Given the description of an element on the screen output the (x, y) to click on. 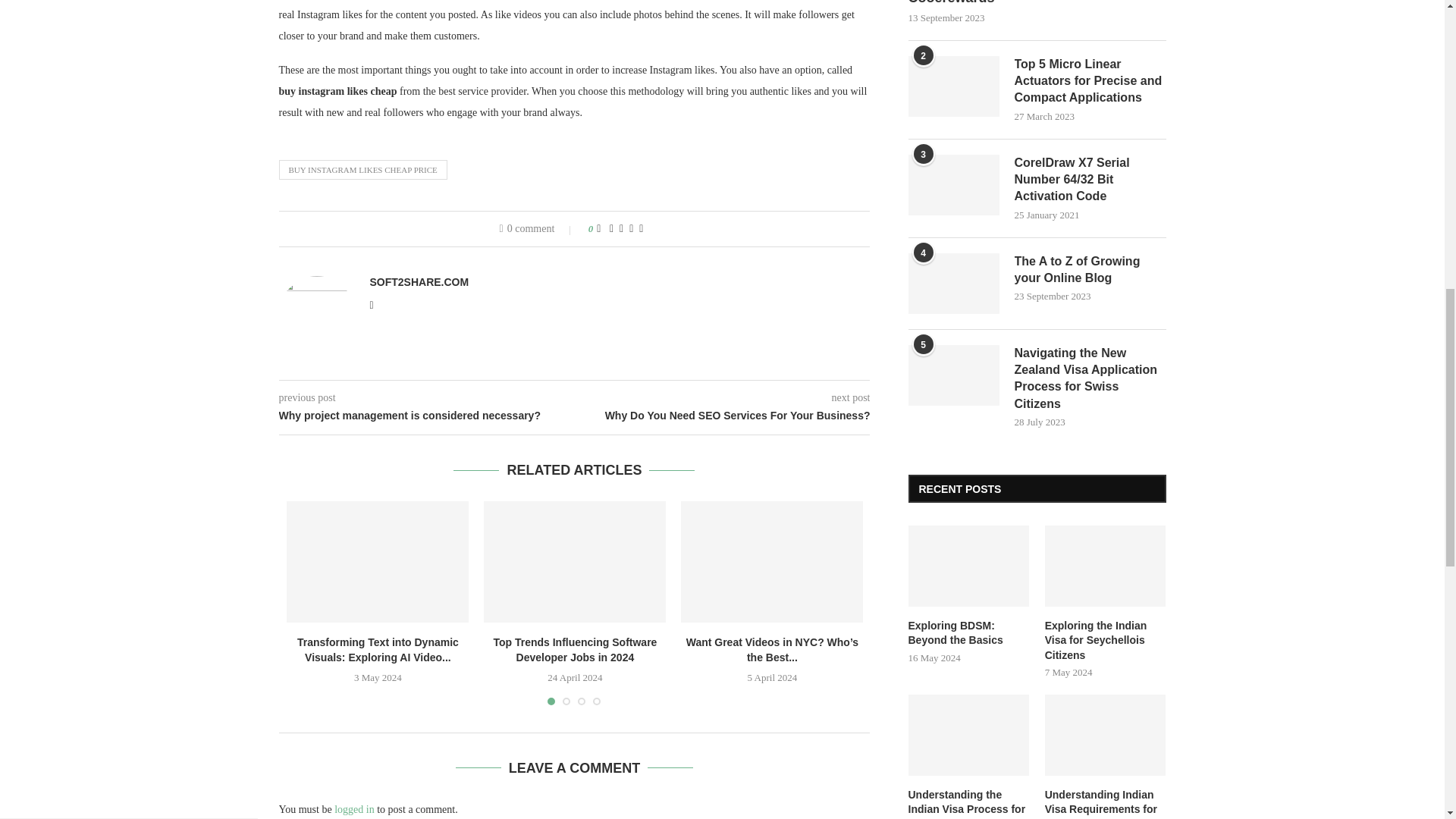
Author Soft2share.com (418, 282)
Top Trends Influencing Software Developer Jobs in 2024 (574, 561)
BUY INSTAGRAM LIKES CHEAP PRICE (362, 169)
